Given the description of an element on the screen output the (x, y) to click on. 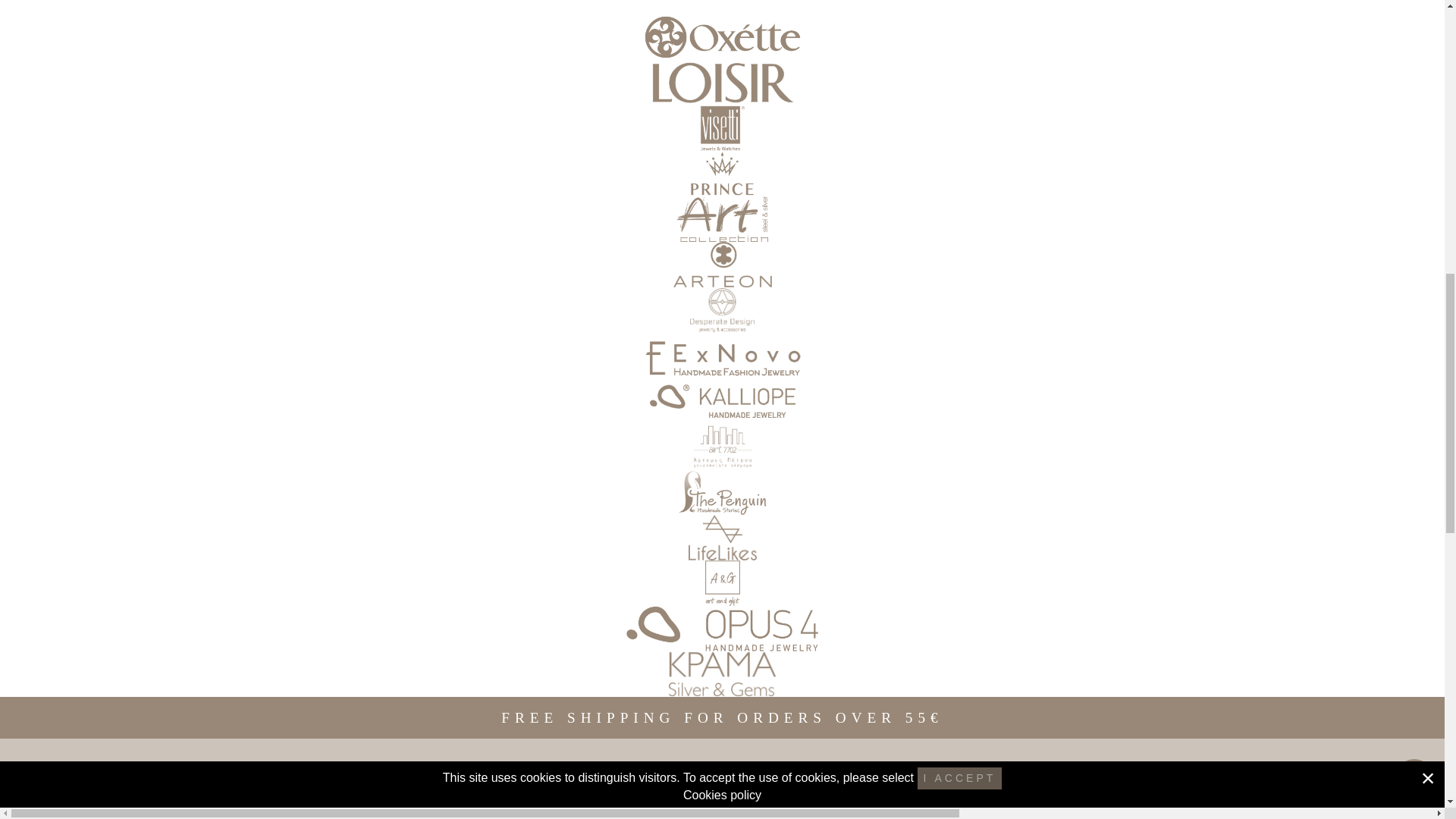
ARTCOLLECTION (722, 218)
PRINCE (722, 173)
EXNOVO (722, 355)
THE PENGUIN Handmade Stories (722, 492)
VISETTI (722, 127)
art7702 (722, 446)
LifeLikes (722, 537)
OXETTE (722, 36)
OPUS 4 (722, 628)
KRAMA JEWELS (722, 673)
ARTEON (722, 264)
DESPERATE DESIGN (722, 309)
KALLIOPE handmade jewelry (722, 401)
LOISIR (722, 82)
